Given the description of an element on the screen output the (x, y) to click on. 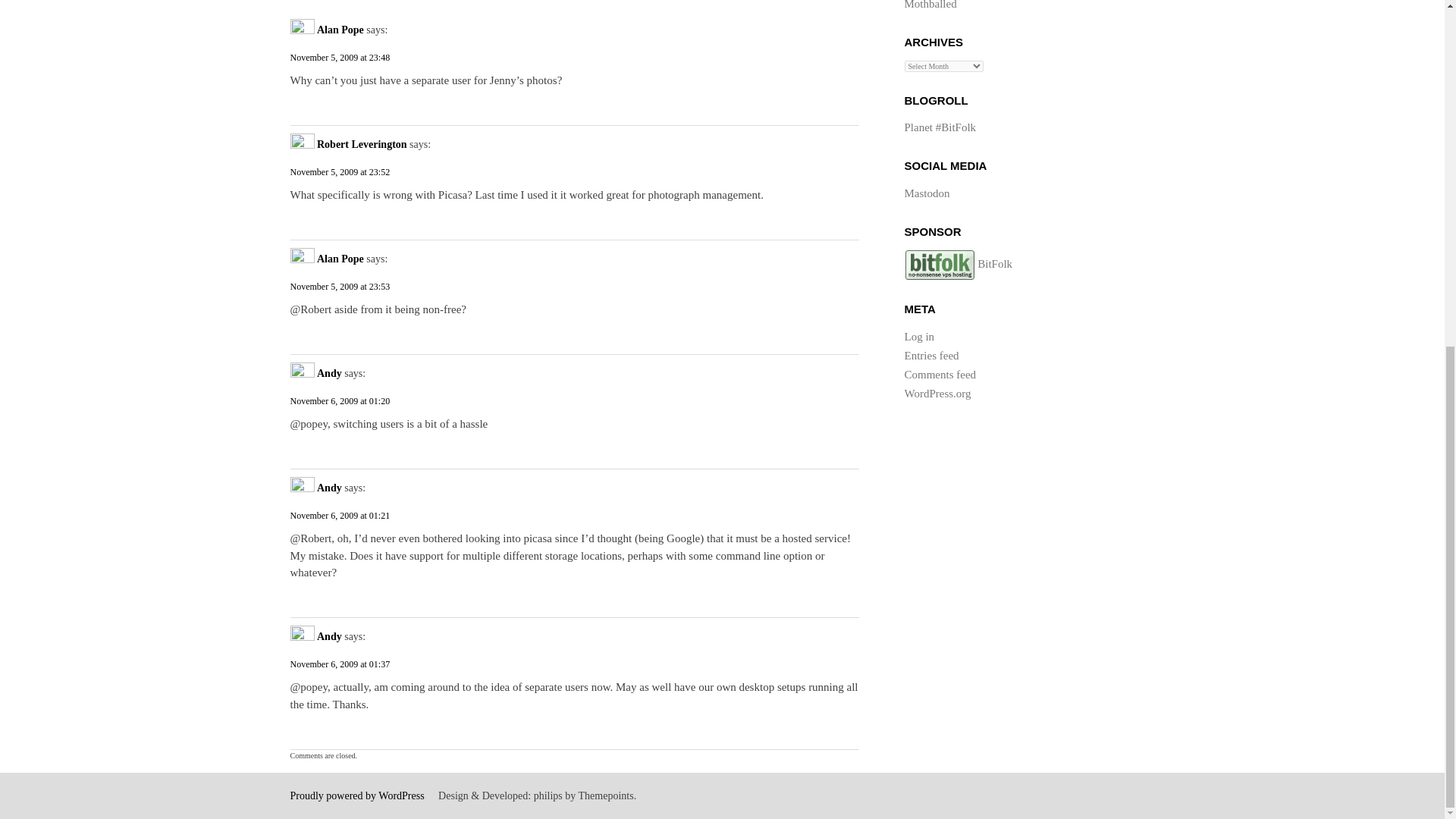
Robert Leverington (362, 143)
Alan Pope (340, 258)
Andy (329, 636)
WordPress.org (937, 393)
BitFolk (957, 263)
November 5, 2009 at 23:48 (574, 57)
Alan Pope (340, 30)
Andy (329, 487)
Entries feed (931, 355)
Proudly powered by WordPress (356, 795)
This site hosted by BitFolk Ltd: no-nonsense VPS hosting (957, 263)
This site hosted by BitFolk Ltd: no-nonsense VPS hosting (939, 264)
November 6, 2009 at 01:20 (574, 400)
November 5, 2009 at 23:53 (574, 286)
Log in (919, 336)
